Given the description of an element on the screen output the (x, y) to click on. 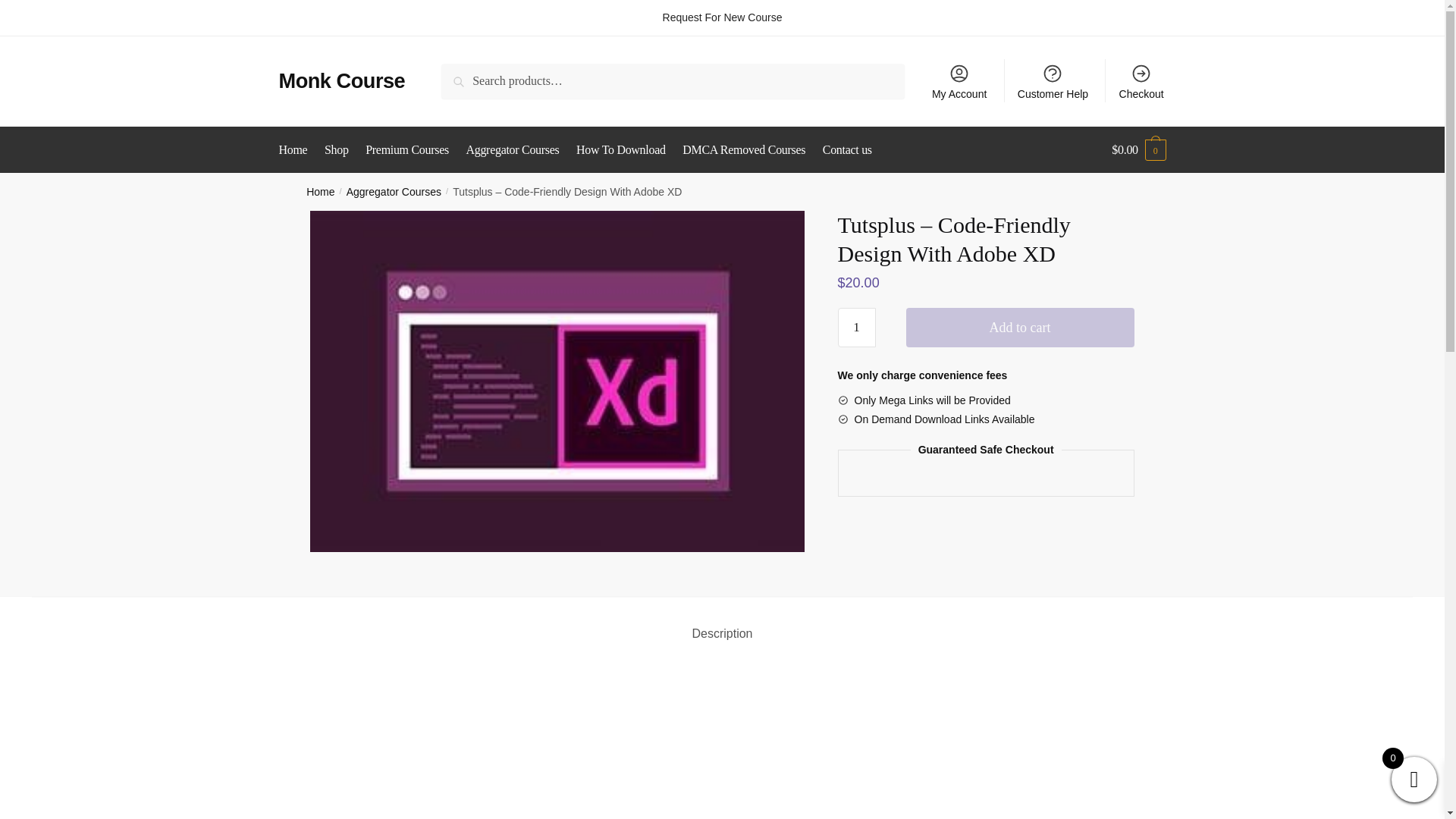
Shop (336, 149)
Aggregator Courses (393, 191)
Search (462, 74)
Description (721, 621)
My Account (959, 80)
Monk Course (342, 80)
Checkout (1141, 80)
70c22a3335c223935c302fa685cd598a-1 (721, 743)
Premium Courses (406, 149)
Aggregator Courses (513, 149)
DMCA Removed Courses (743, 149)
Add to cart (1019, 327)
1 (857, 327)
Home (296, 149)
